Given the description of an element on the screen output the (x, y) to click on. 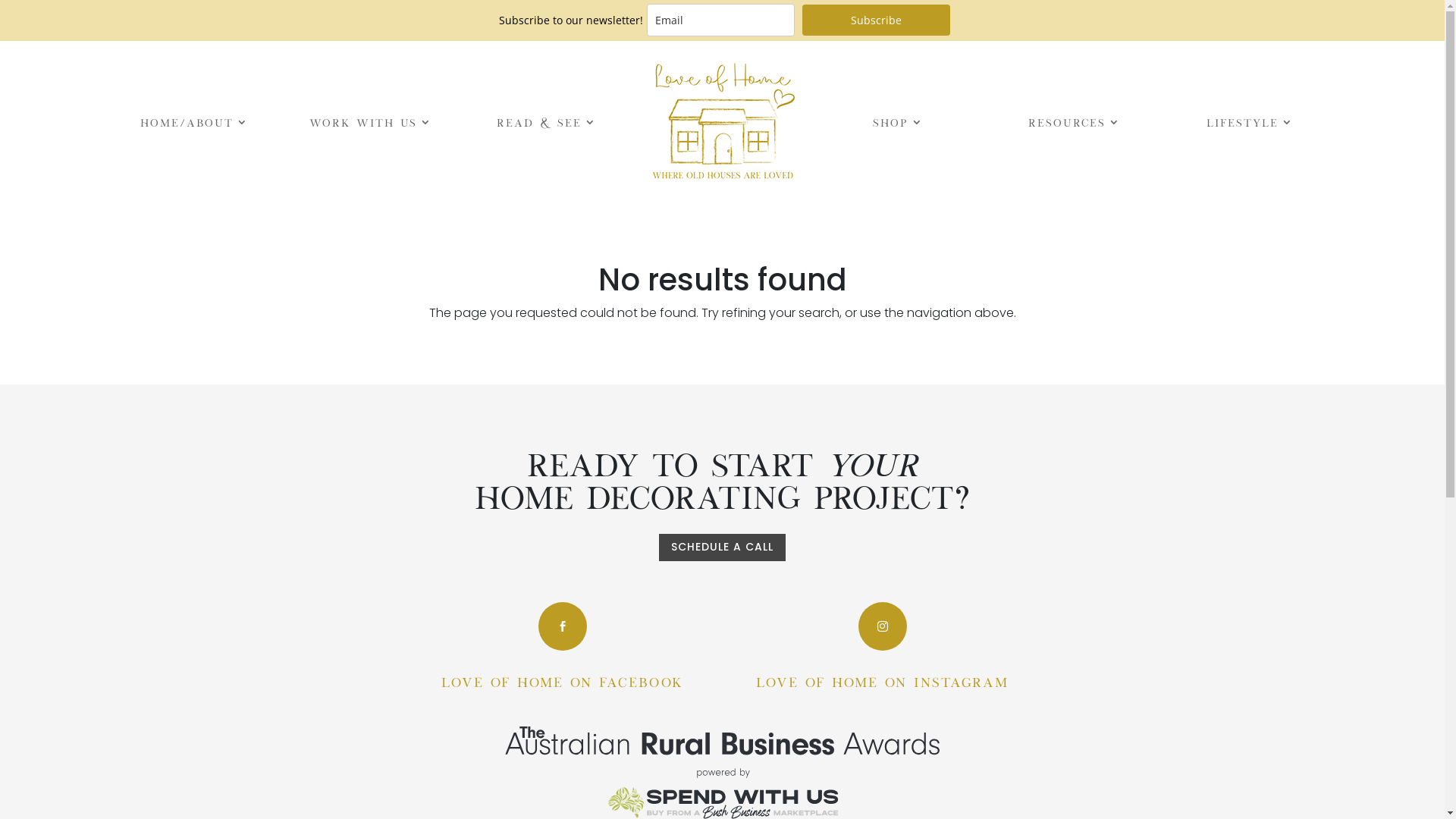
Love of Home on Facebook Element type: text (562, 680)
Read & See Element type: text (545, 121)
SCHEDULE A CALL Element type: text (721, 547)
Lifestyle Element type: text (1249, 121)
Resources Element type: text (1074, 121)
Love of Home on Instagram Element type: text (882, 680)
Shop Element type: text (897, 121)
Work With Us Element type: text (370, 121)
Home/About Element type: text (194, 121)
Subscribe Element type: text (876, 19)
